Given the description of an element on the screen output the (x, y) to click on. 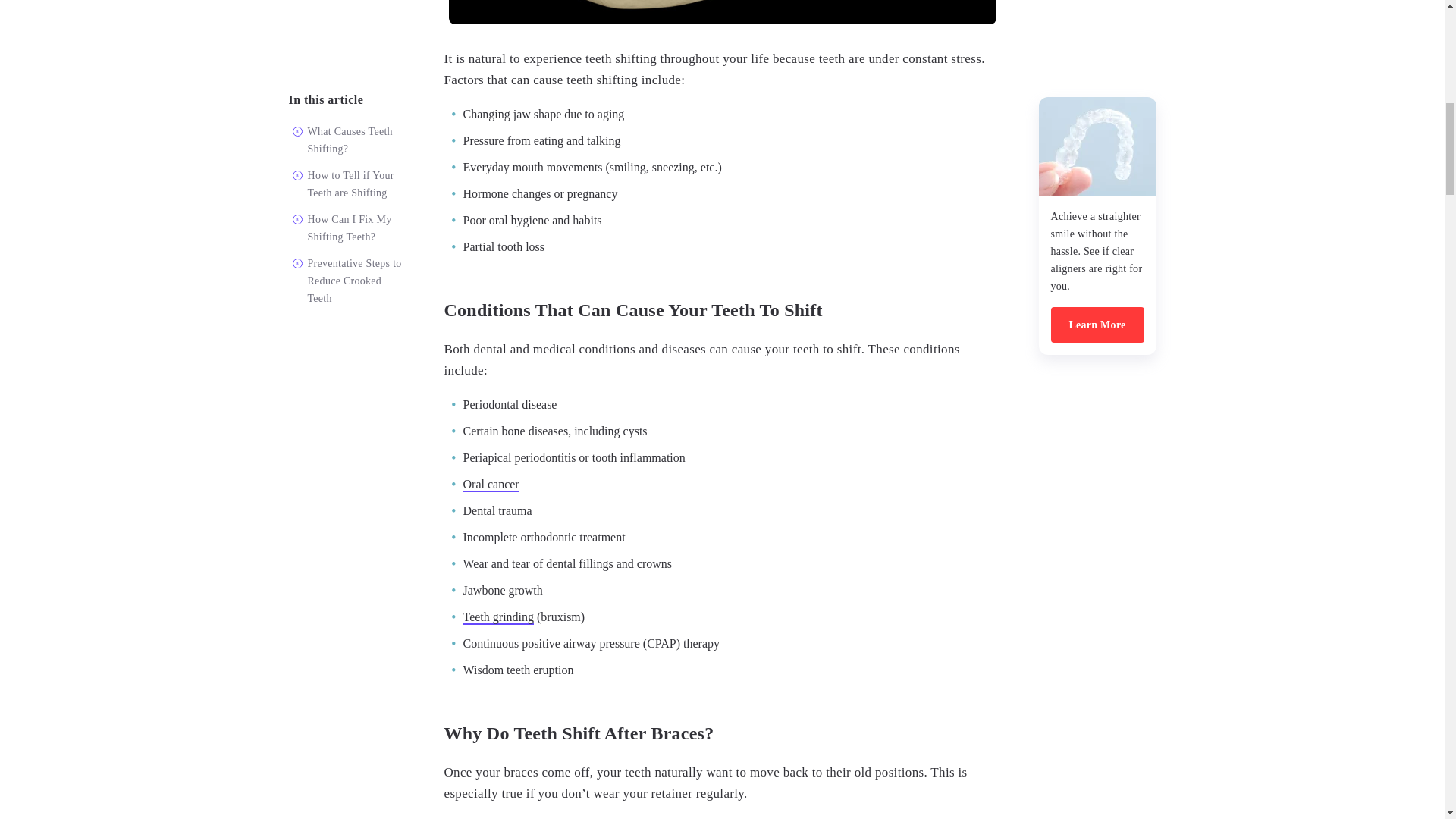
Teeth Shifting: 10 Causes and Treatments 3 (721, 12)
